Given the description of an element on the screen output the (x, y) to click on. 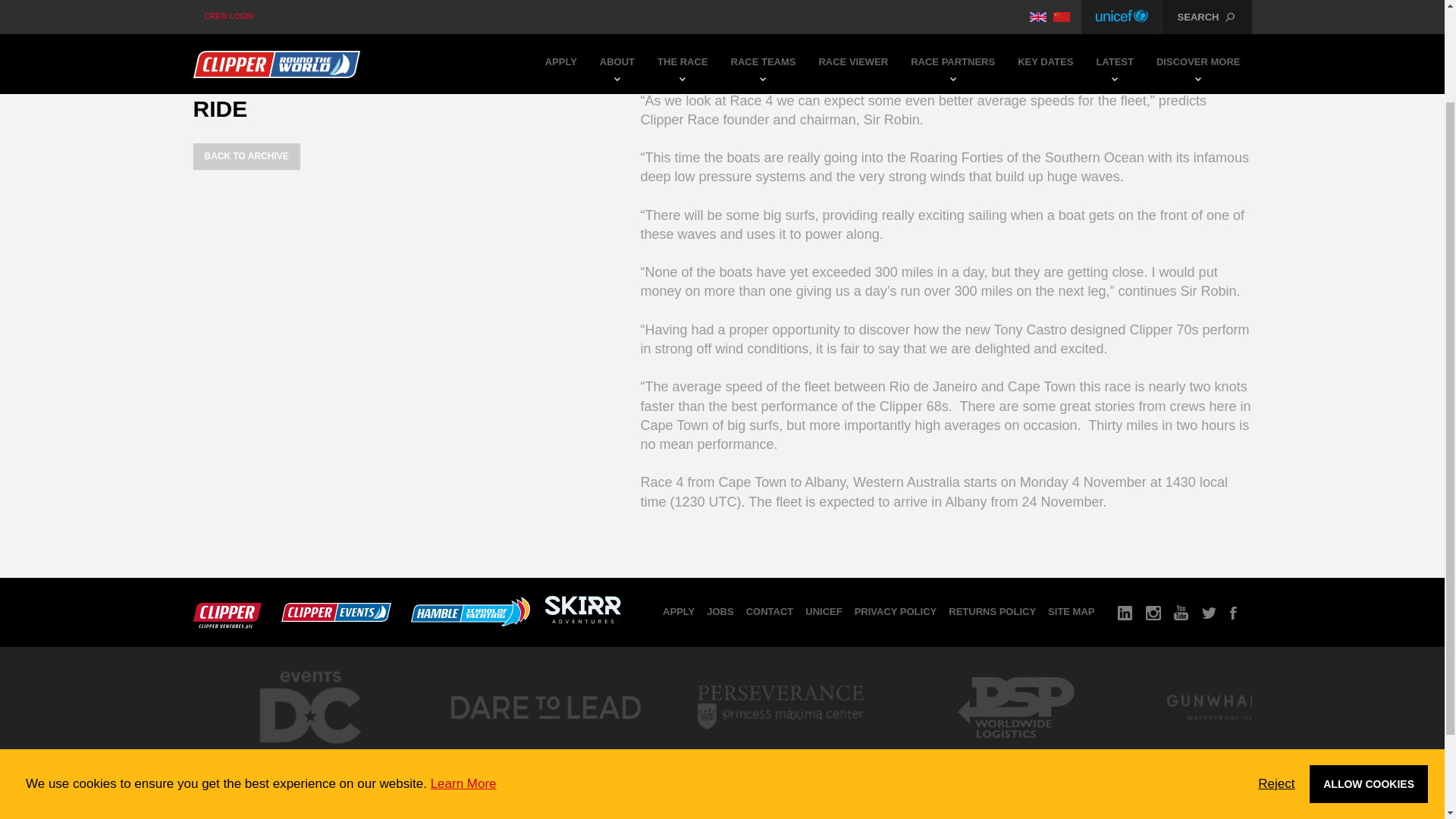
Dare To Lead (544, 751)
Events DC (309, 757)
Gunwharf Quays (1250, 751)
PSP Logistics (1014, 751)
Perseverance (780, 751)
